Given the description of an element on the screen output the (x, y) to click on. 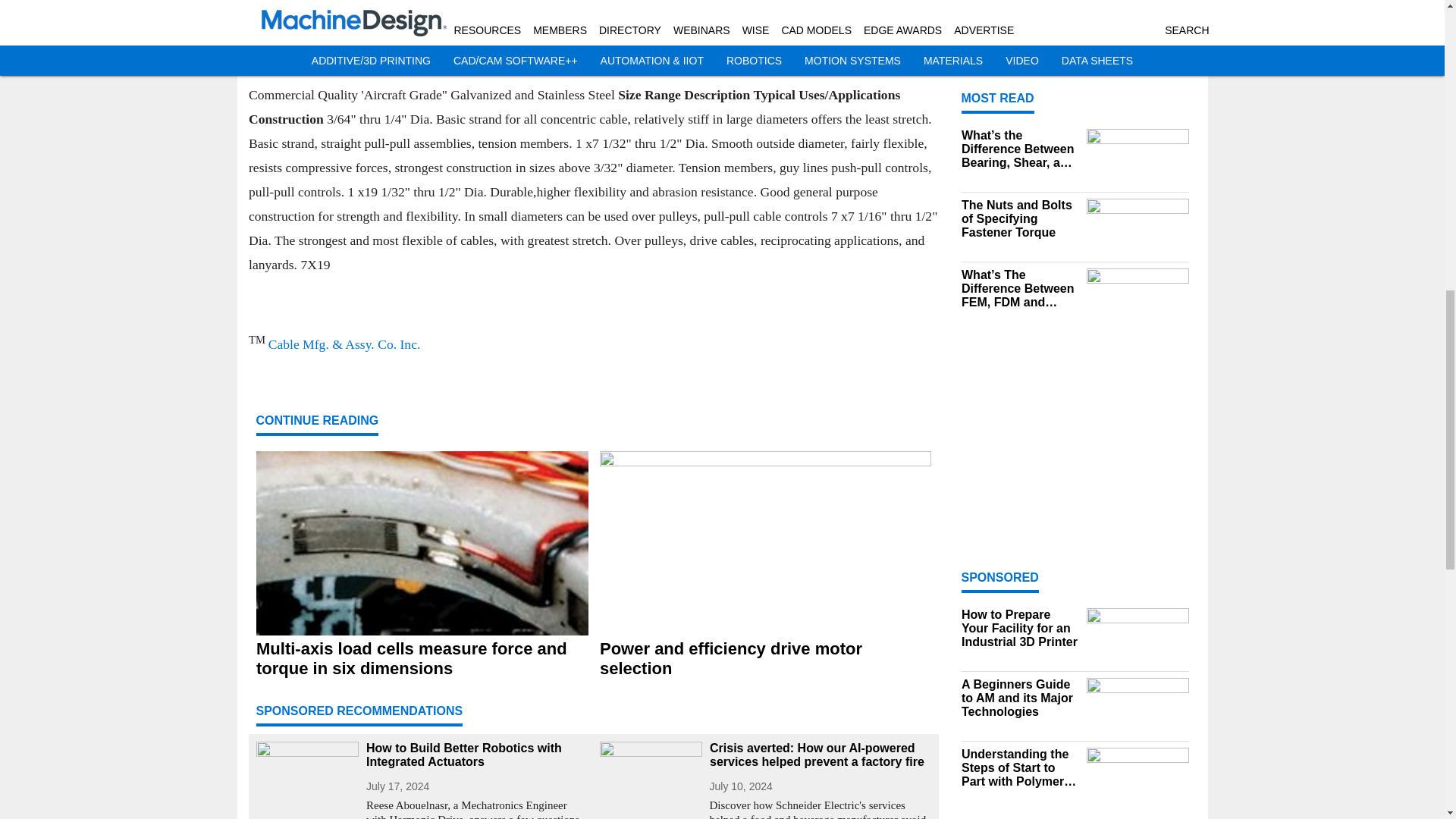
How to Build Better Robotics with Integrated Actuators (476, 755)
Power and efficiency drive motor selection (764, 658)
